Given the description of an element on the screen output the (x, y) to click on. 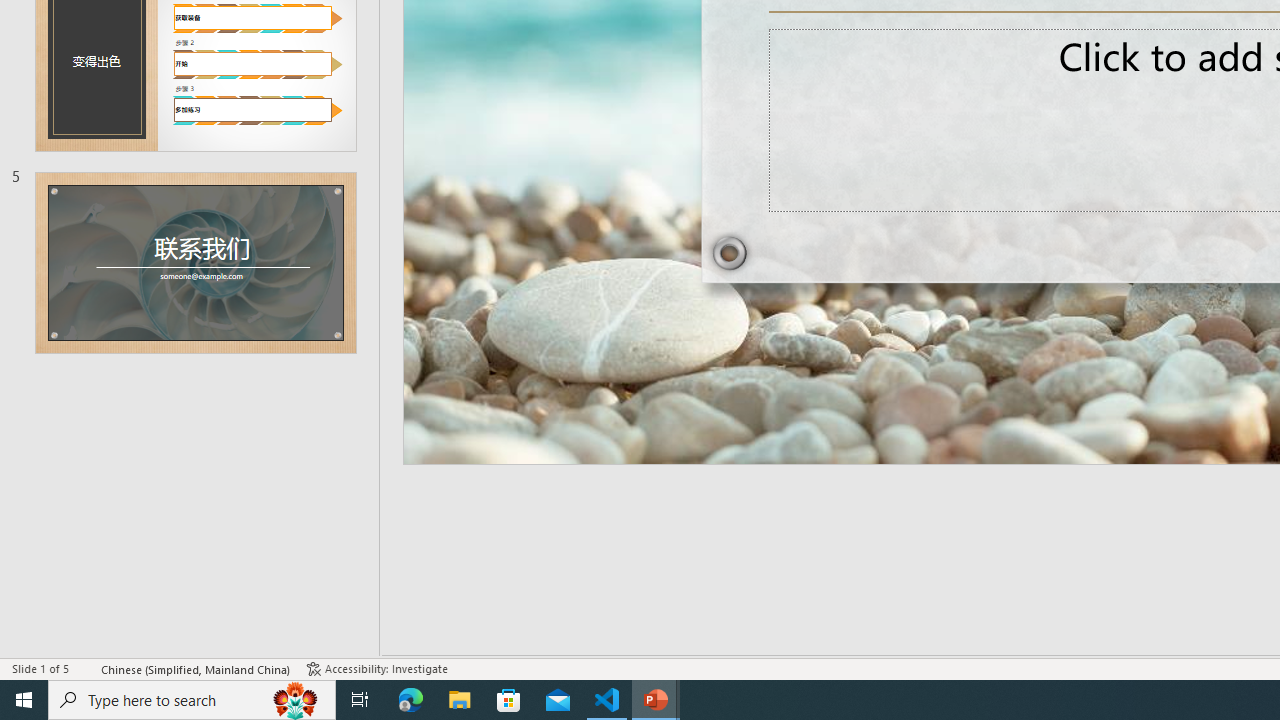
Spell Check  (86, 668)
